Given the description of an element on the screen output the (x, y) to click on. 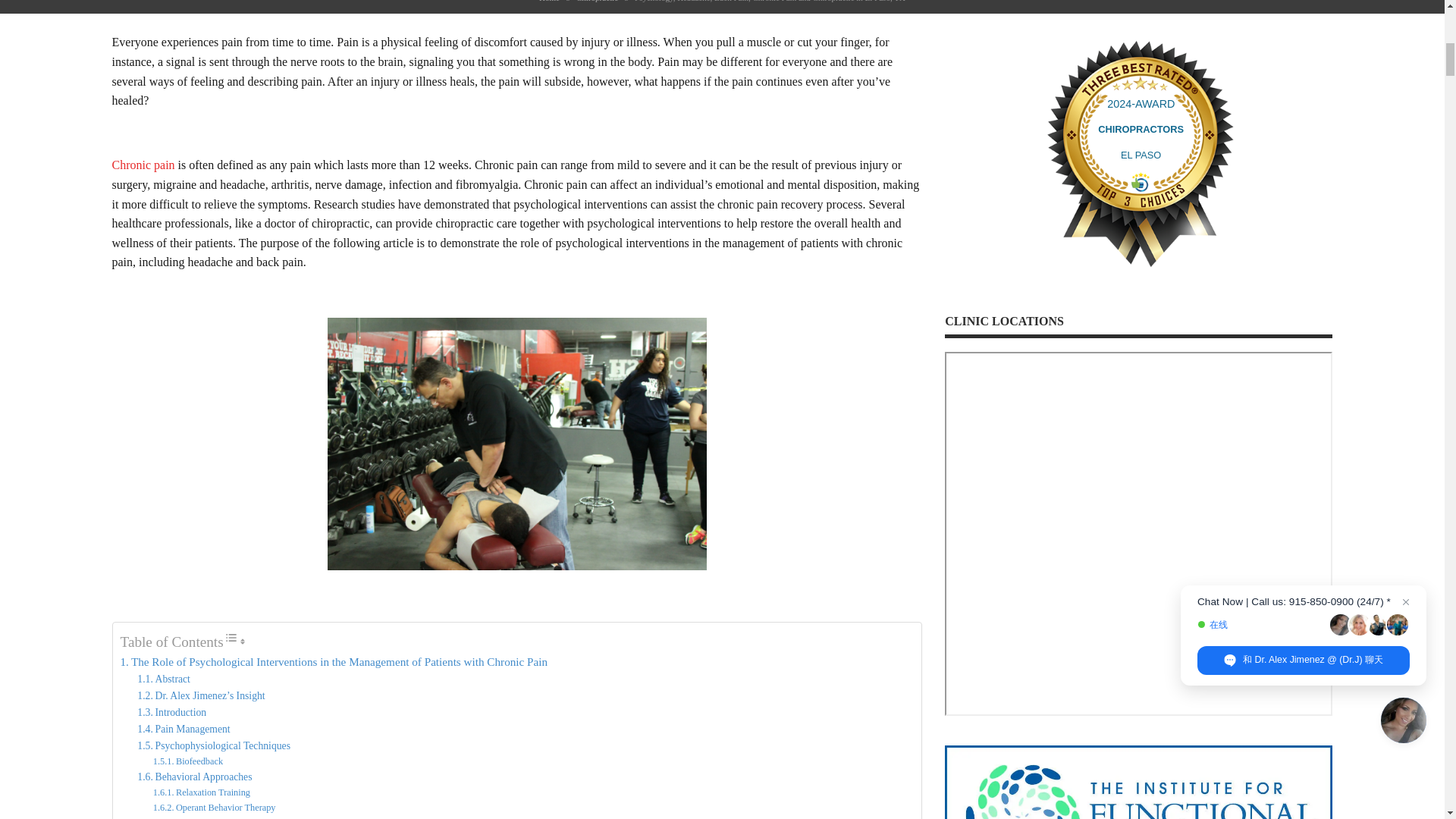
Abstract (163, 678)
Behavioral Approaches (193, 777)
Biofeedback (187, 761)
Operant Behavior Therapy (214, 807)
Cognitive-Behavioral Approaches (216, 817)
Pain Management (183, 729)
Relaxation Training (201, 792)
Psychophysiological Techniques (212, 745)
Introduction (171, 712)
